Given the description of an element on the screen output the (x, y) to click on. 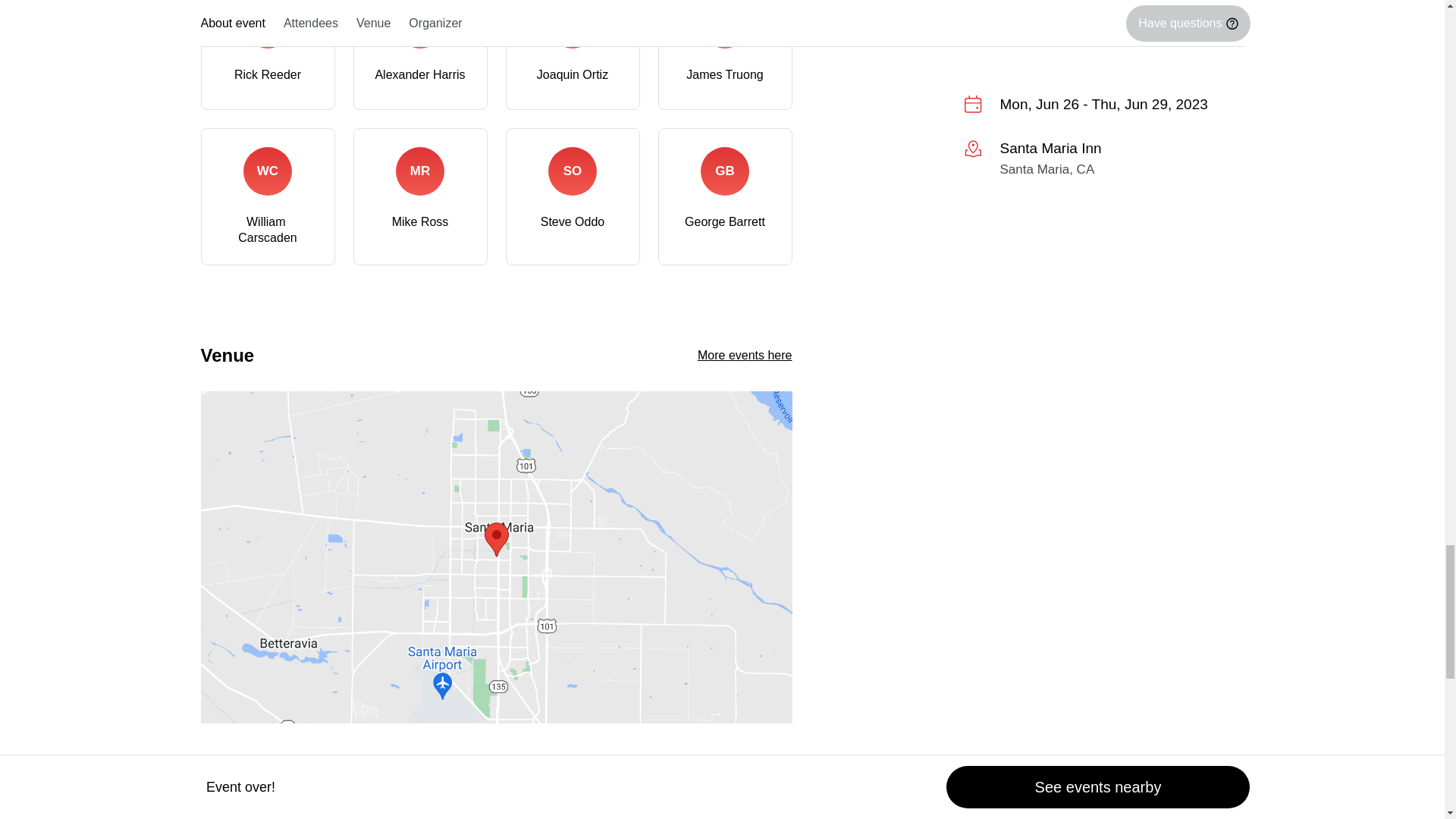
More events here (744, 354)
